Given the description of an element on the screen output the (x, y) to click on. 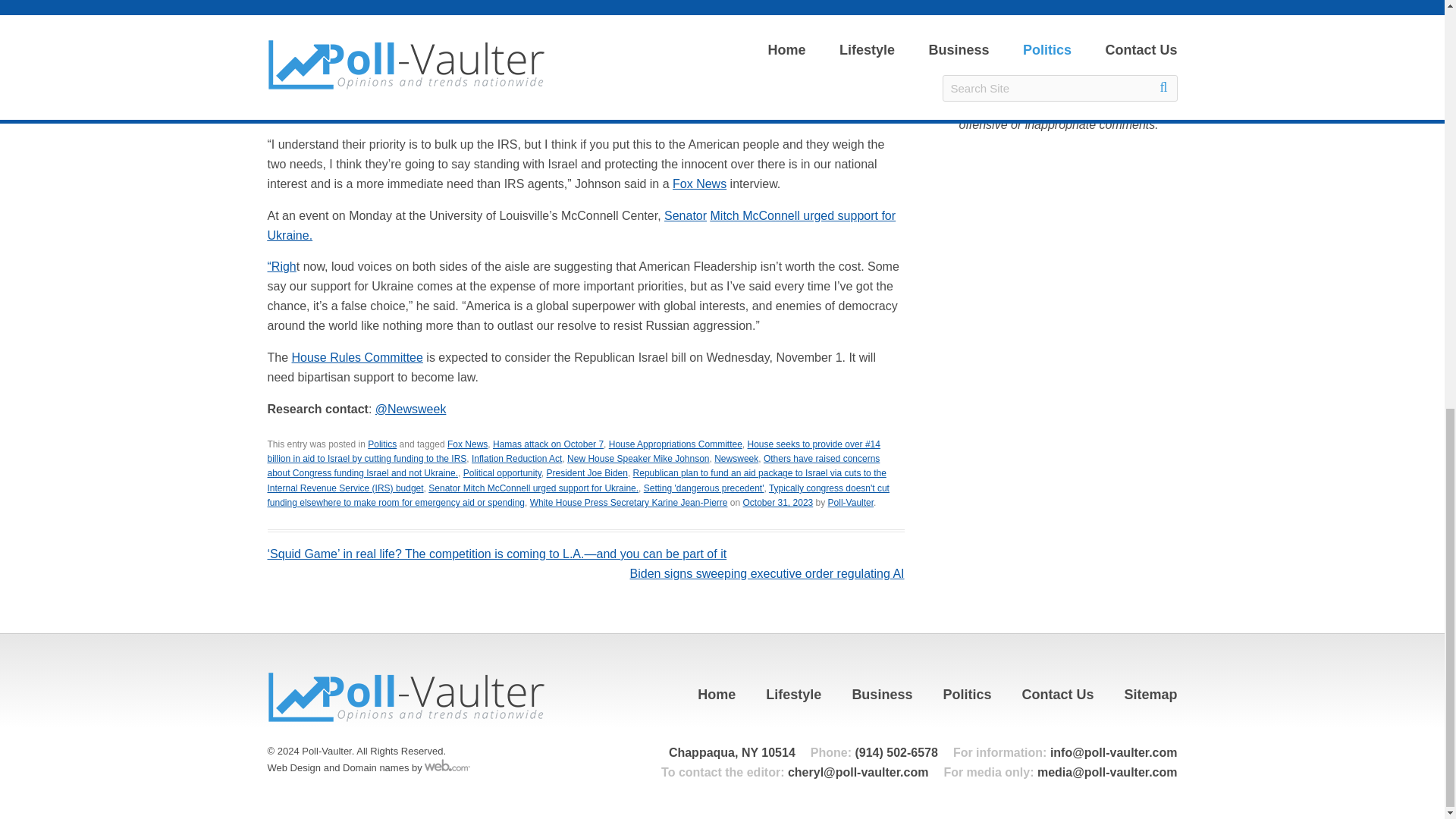
New House Speaker Mike Johnson (638, 458)
Hamas attack on October 7 (548, 443)
View all posts by Poll-Vaulter (850, 502)
House Appropriations Committee (675, 443)
Mitch McConnell urged support for Ukraine. (580, 225)
Politics (382, 443)
Senator (684, 215)
Inflation Reduction Act (516, 458)
Hamas attack on October 7 (668, 92)
2:25 pm (777, 502)
Biden (350, 4)
Fox News (699, 183)
Fox News (466, 443)
House Rules Committee (357, 357)
